Given the description of an element on the screen output the (x, y) to click on. 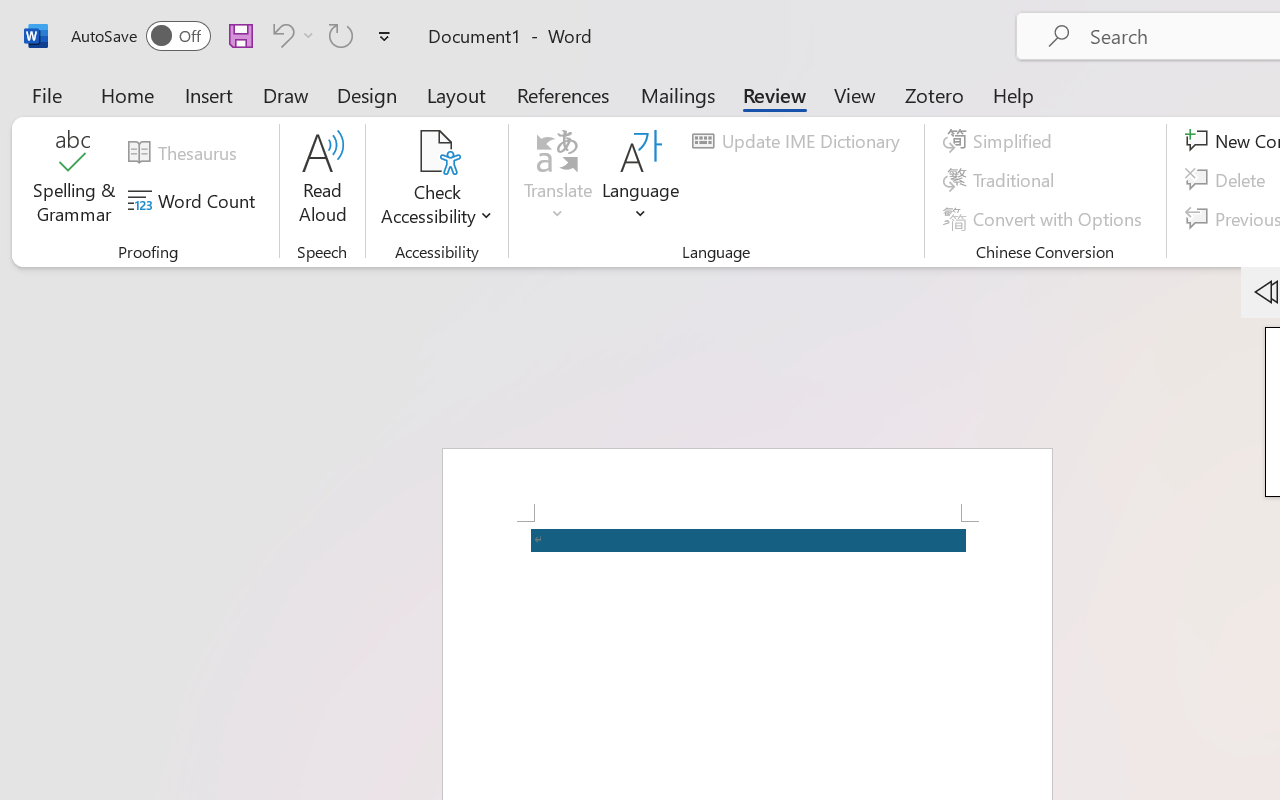
Undo Apply Quick Style Set (280, 35)
Thesaurus... (185, 153)
Undo Apply Quick Style Set (290, 35)
Delete (1227, 179)
Simplified (1000, 141)
Read Aloud (322, 179)
Translate (558, 179)
